Given the description of an element on the screen output the (x, y) to click on. 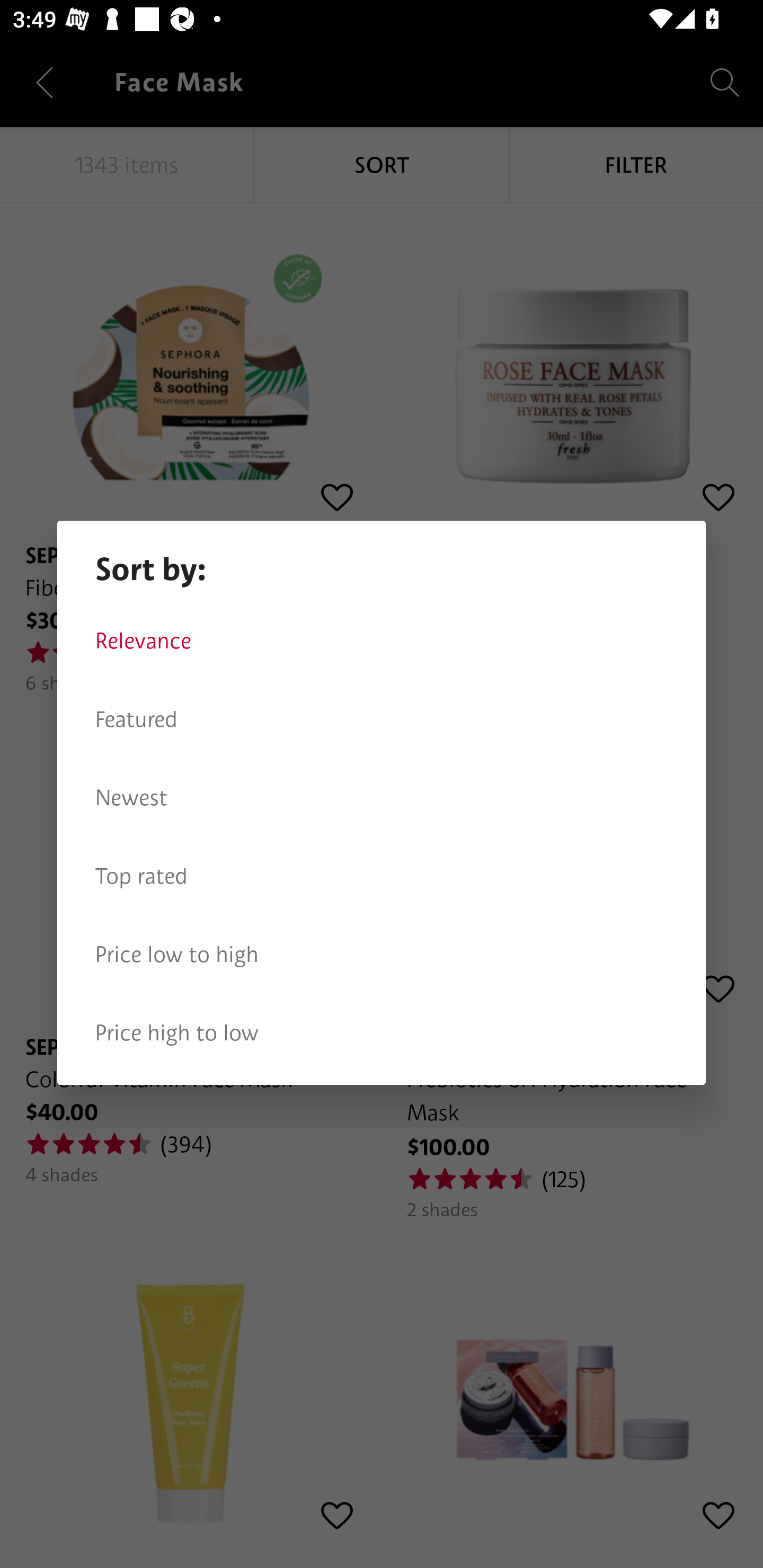
Relevance (381, 641)
Featured (381, 719)
Newest (381, 797)
Top rated (381, 876)
Price low to high (381, 954)
Price high to low (381, 1033)
